Given the description of an element on the screen output the (x, y) to click on. 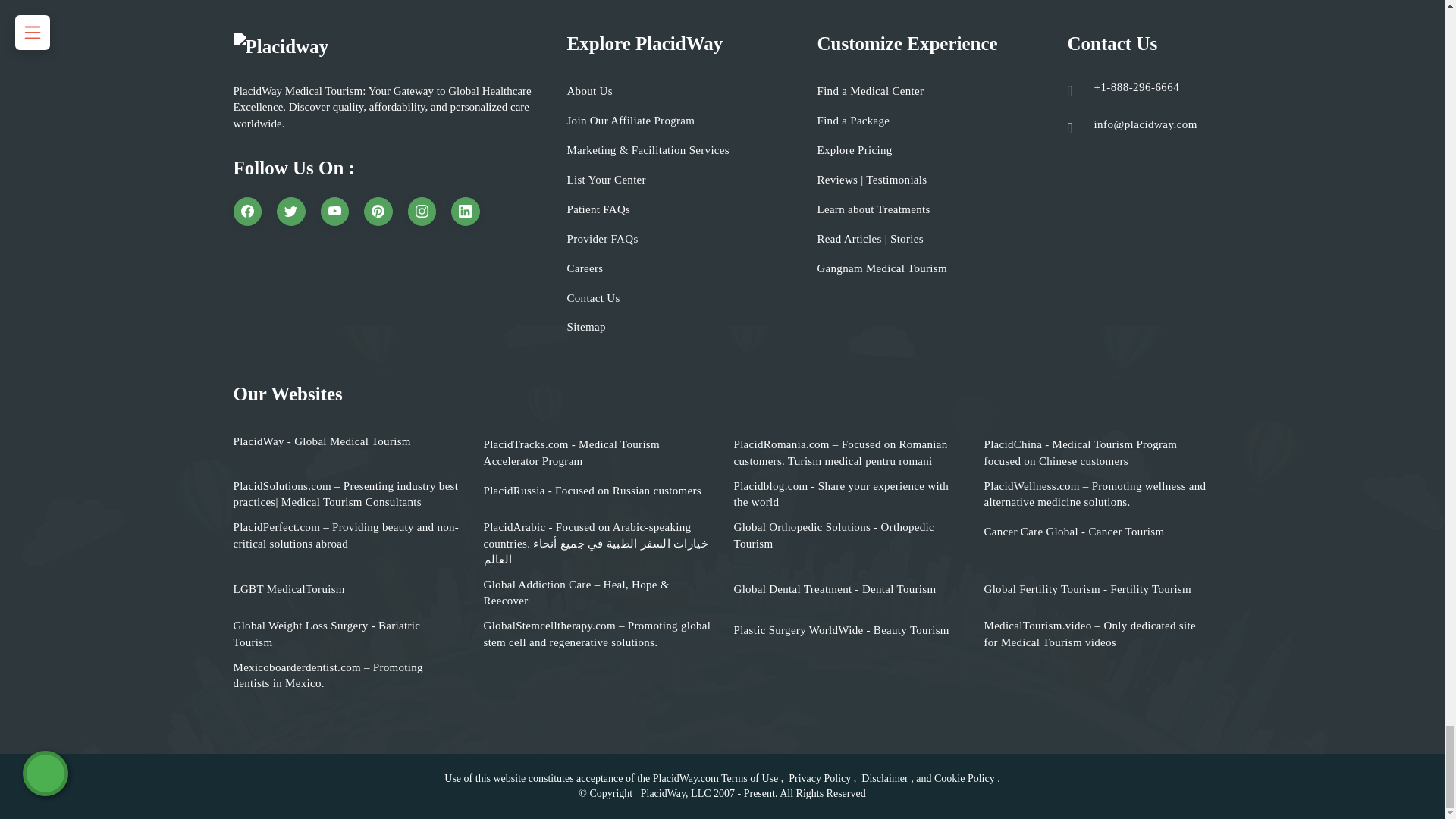
Placidway's Pinterest Account (378, 211)
Global Orthopedic Solutions - Orthopedic Tourism (846, 535)
Placidway's Twitter Account (290, 211)
Placidway's Instagram Account (421, 211)
LGBT MedicalToruism (288, 589)
PlacidTracks.com - Medical Tourism Accelerator Program (597, 452)
Cancer Care Global - Cancer Tourism (1074, 531)
Placidway's Youtube Account (334, 211)
PlacidWay - Global Medical Tourism (321, 441)
Placidway's facebook Account (247, 211)
Placidway's Linkedin Account (465, 211)
PlacidRussia - Focused on Russian customers (592, 490)
Placidblog.com - Share your experience with the world (846, 494)
